Given the description of an element on the screen output the (x, y) to click on. 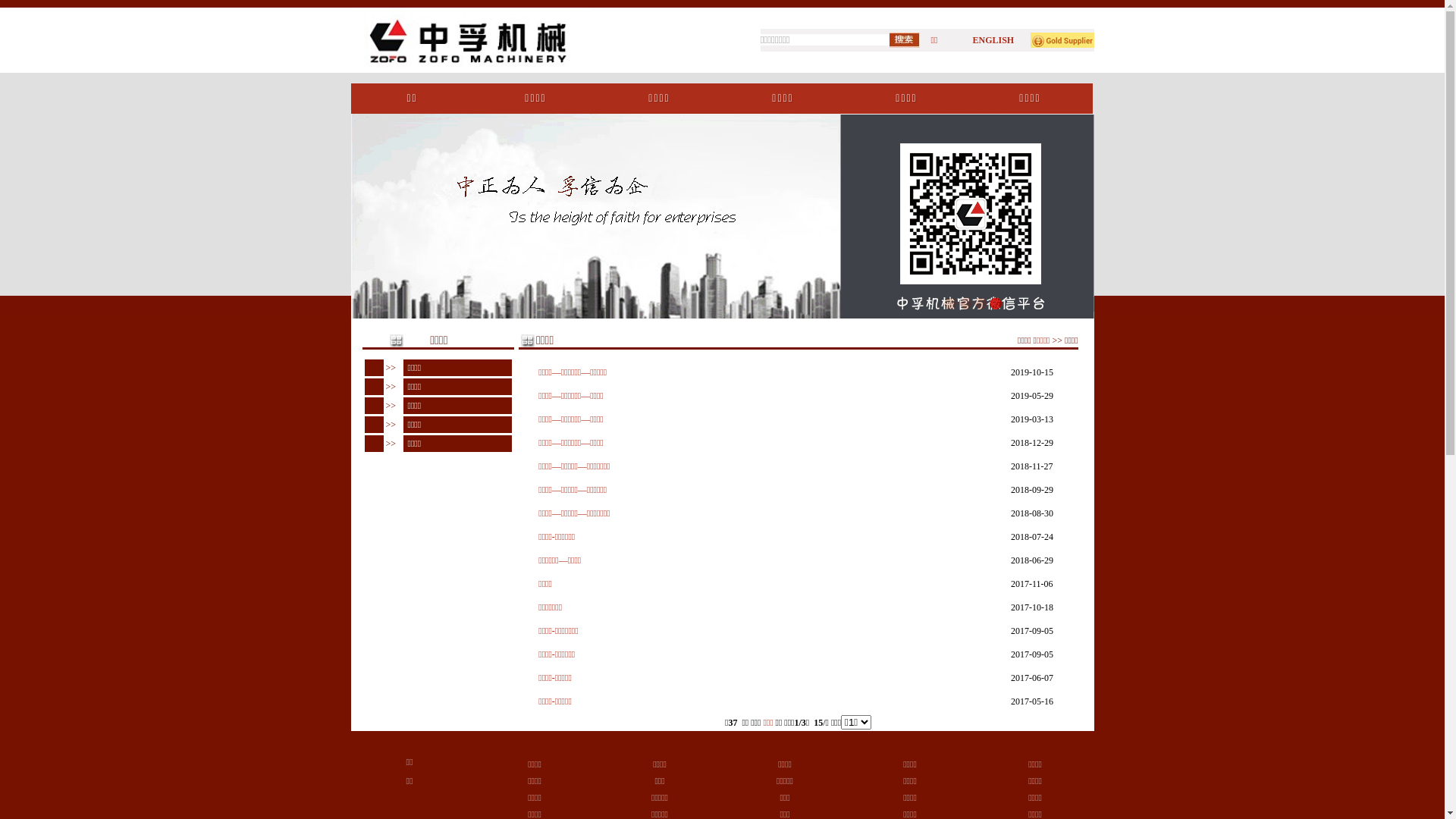
ENGLISH Element type: text (992, 39)
